Given the description of an element on the screen output the (x, y) to click on. 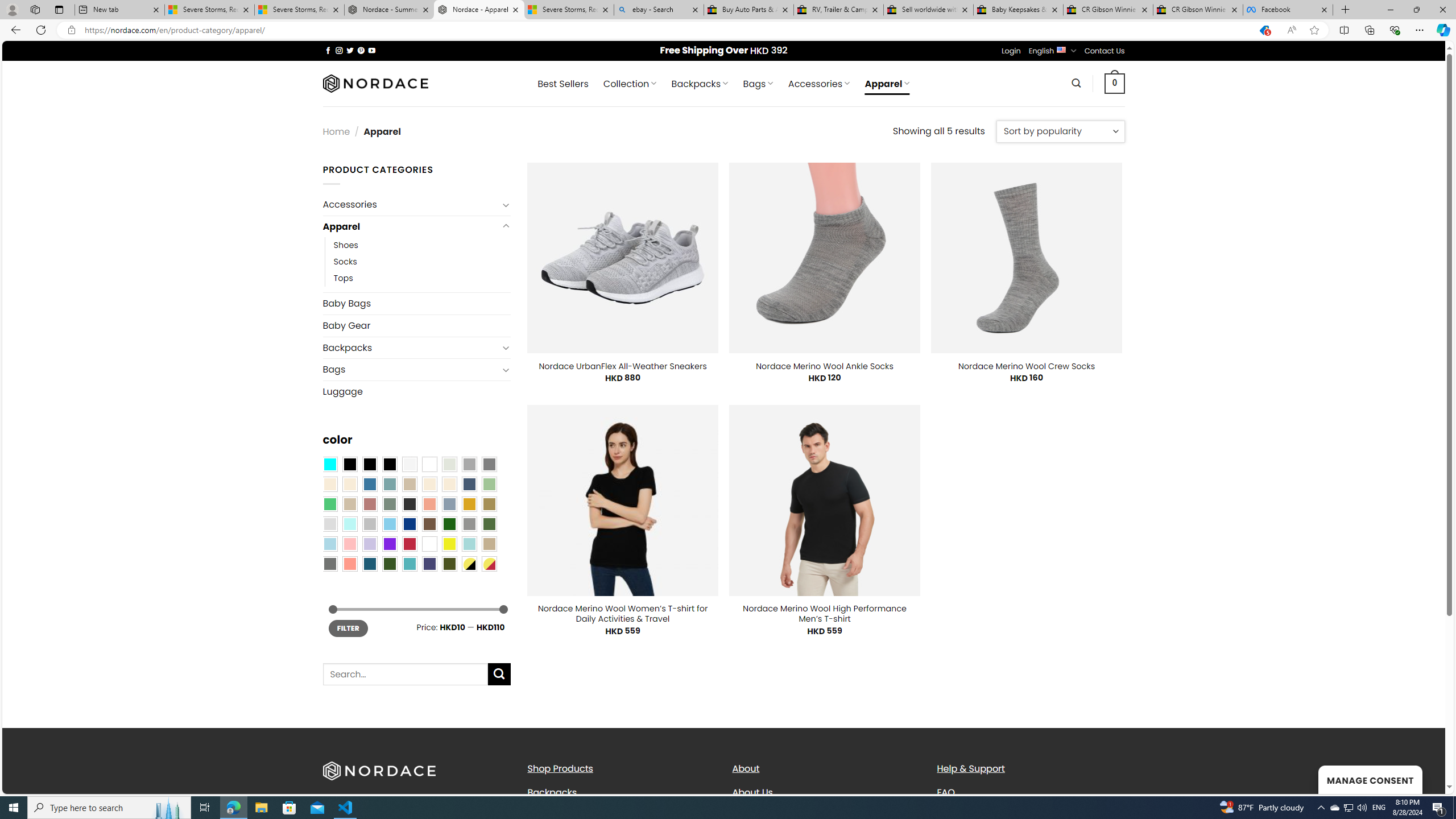
Follow on Facebook (327, 49)
Go to top (1421, 777)
Ash Gray (449, 464)
Yellow-Red (488, 563)
Purple Navy (429, 563)
Buy Auto Parts & Accessories | eBay (747, 9)
All Gray (488, 464)
 0  (1115, 83)
Blue Sage (389, 483)
